Given the description of an element on the screen output the (x, y) to click on. 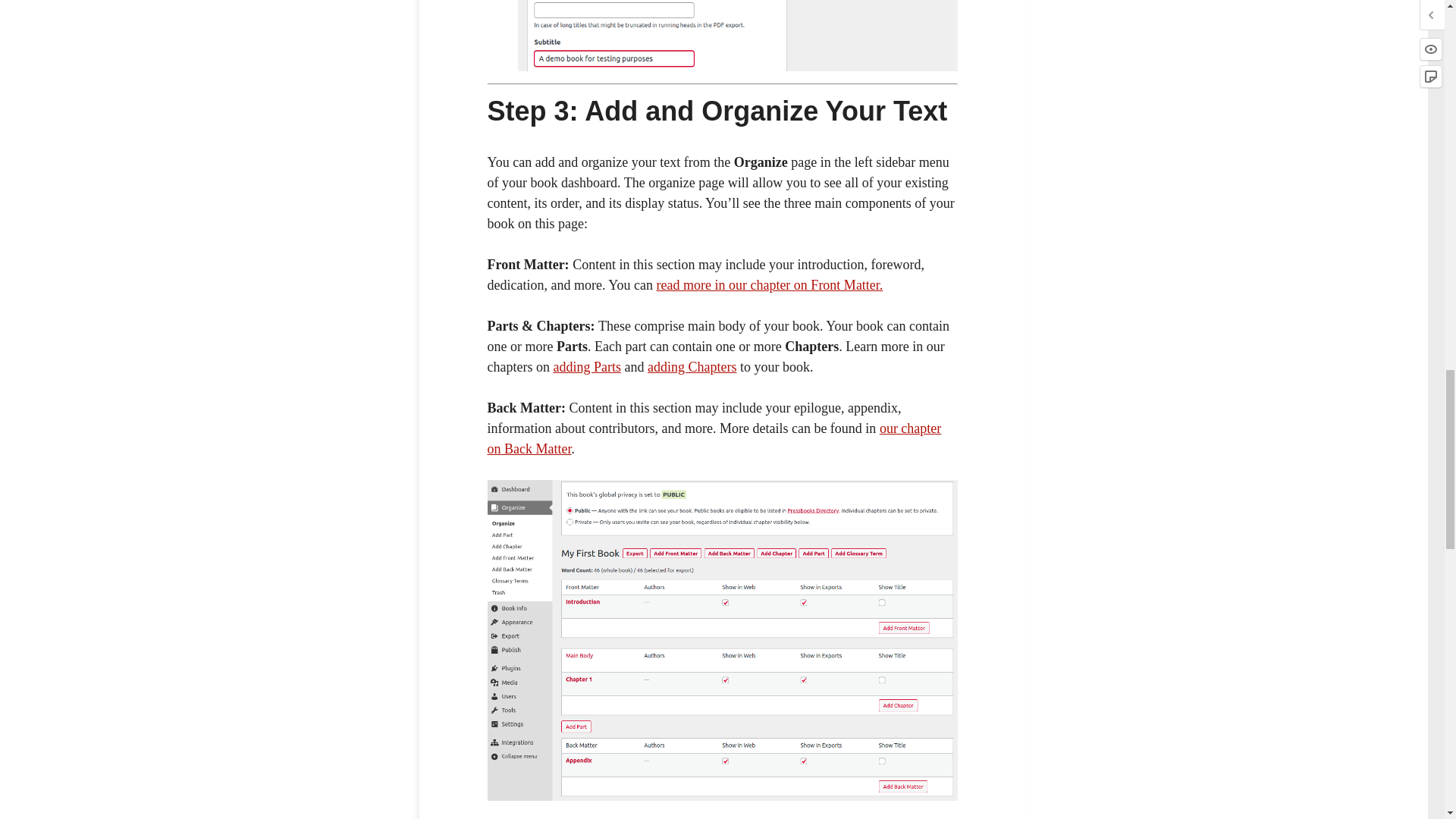
our chapter on Back Matter (713, 438)
read more in our chapter on Front Matter. (769, 284)
adding Chapters (691, 366)
adding Parts (587, 366)
